Given the description of an element on the screen output the (x, y) to click on. 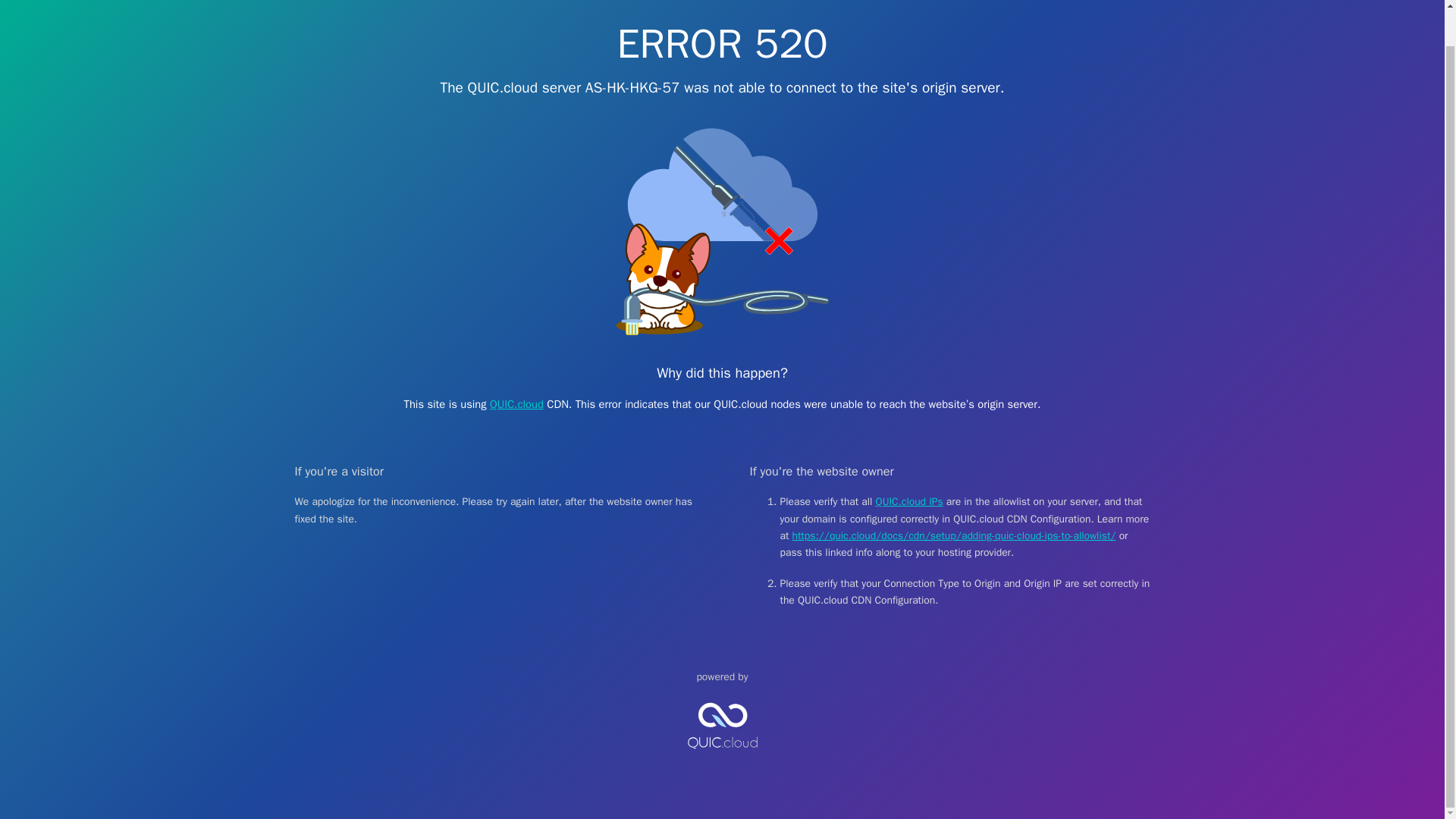
QUIC.cloud (516, 404)
QUIC.cloud IPs (909, 501)
QUIC.cloud (721, 761)
